Given the description of an element on the screen output the (x, y) to click on. 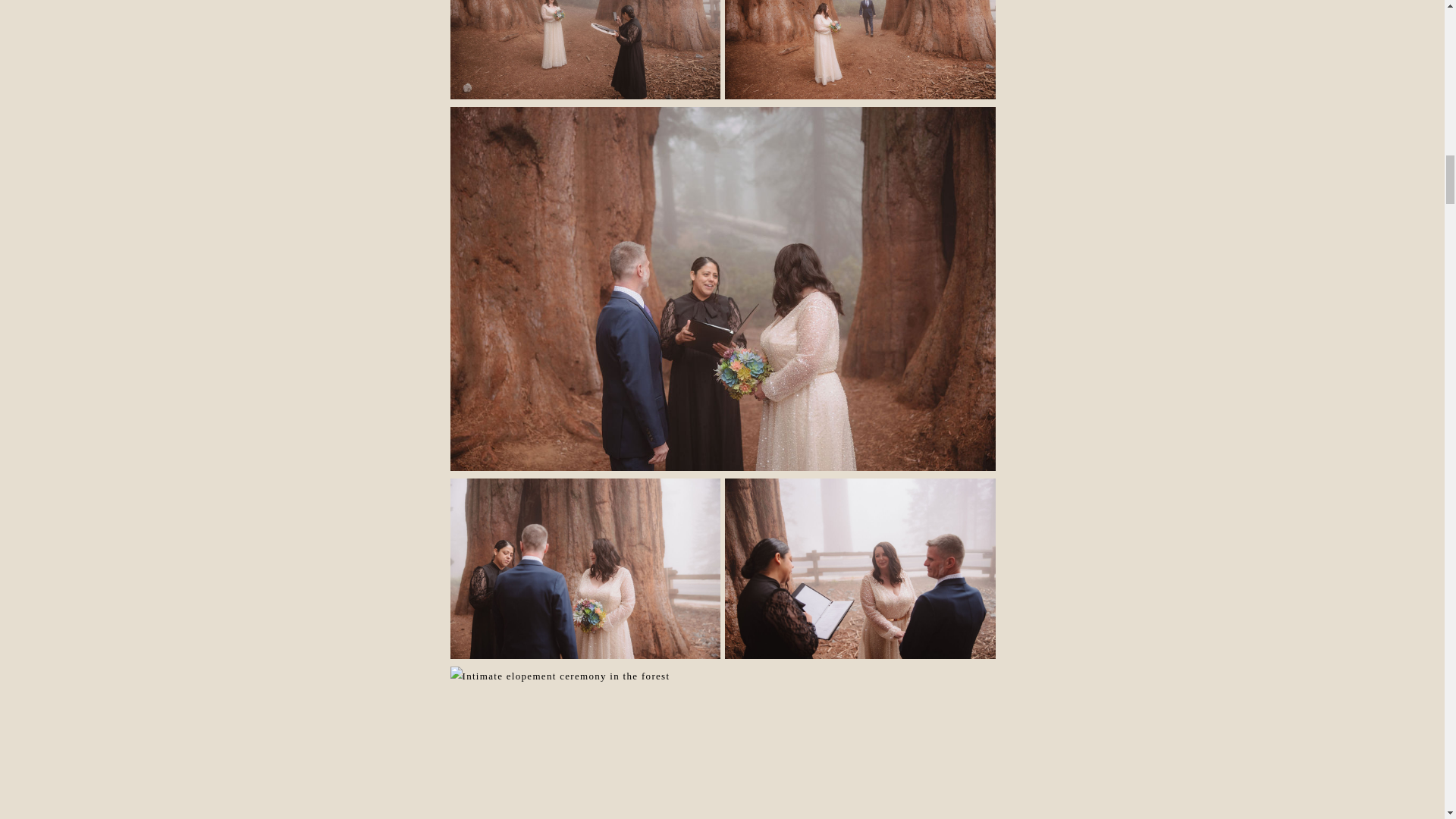
A Romantic Sequoia National Park Elopement (859, 49)
A Romantic Sequoia National Park Elopement (859, 568)
A Romantic Sequoia National Park Elopement (584, 49)
A Romantic Sequoia National Park Elopement (584, 568)
A Romantic Sequoia National Park Elopement (722, 742)
